Given the description of an element on the screen output the (x, y) to click on. 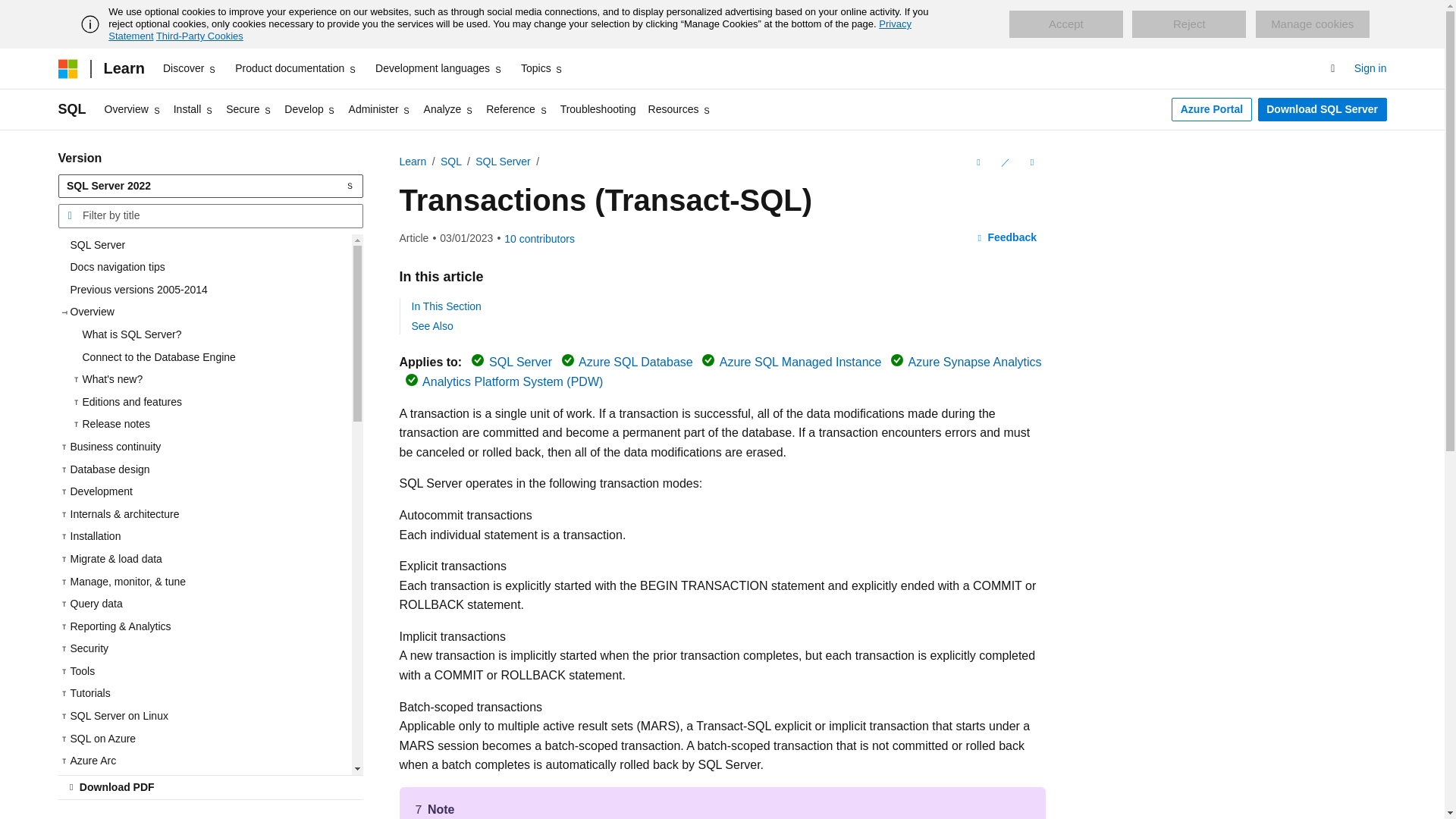
Development languages (438, 68)
Accept (1065, 23)
Privacy Statement (509, 29)
Overview (133, 109)
More actions (1031, 161)
Sign in (1370, 68)
View all contributors (539, 238)
Discover (189, 68)
Edit This Document (1004, 161)
Product documentation (295, 68)
Learn (123, 68)
Reject (1189, 23)
SQL (71, 109)
Manage cookies (1312, 23)
Third-Party Cookies (199, 35)
